Given the description of an element on the screen output the (x, y) to click on. 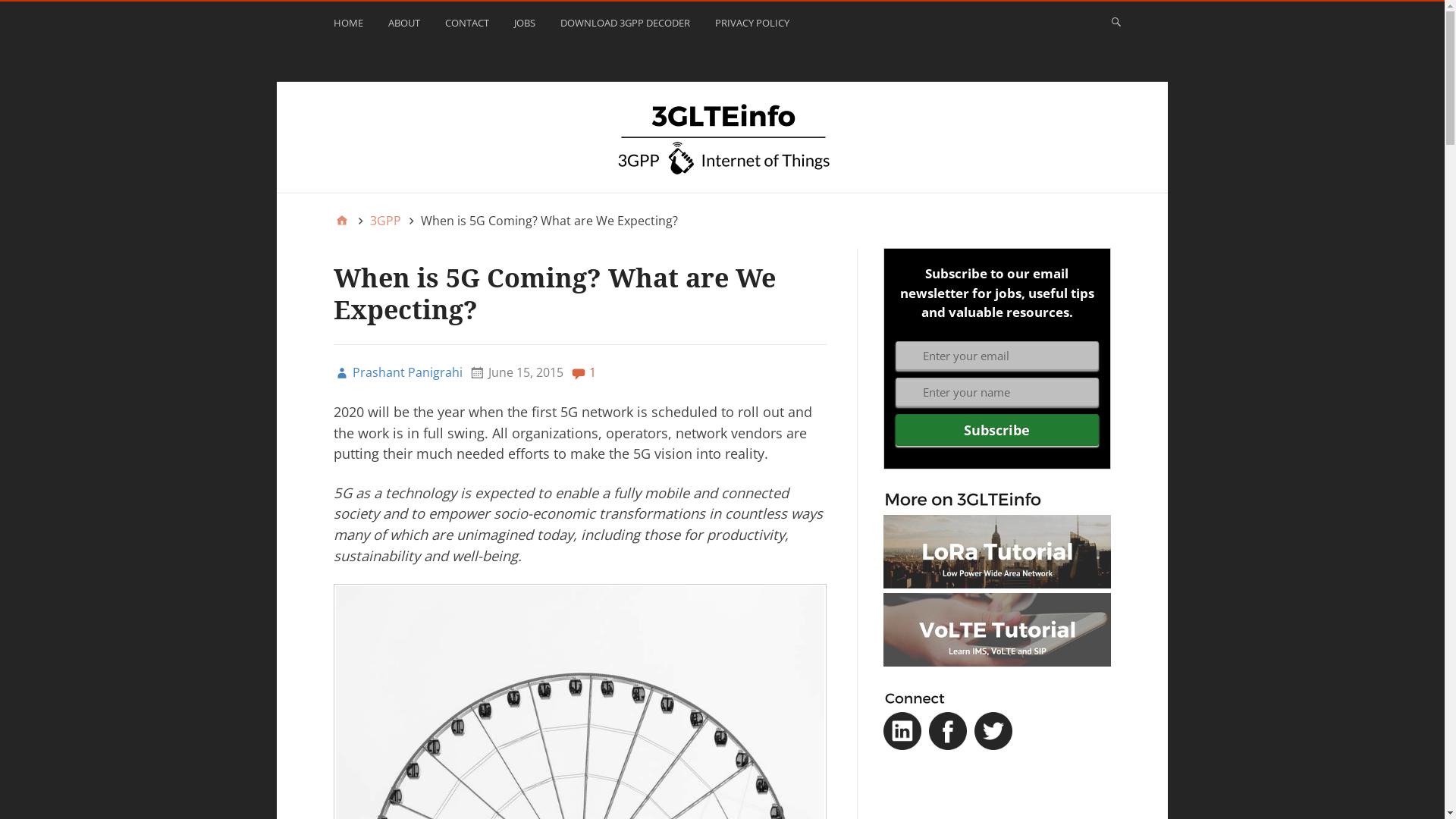
CONTACT Element type: text (468, 26)
3GPP Element type: text (385, 220)
DOWNLOAD 3GPP DECODER Element type: text (626, 26)
1 Element type: text (583, 372)
Prashant Panigrahi Element type: text (397, 372)
PRIVACY POLICY Element type: text (754, 26)
3GLTEInfo Element type: hover (721, 137)
JOBS Element type: text (526, 26)
ABOUT Element type: text (405, 26)
HOME Element type: text (350, 26)
Subscribe Element type: text (996, 429)
Search Element type: text (29, 16)
